Given the description of an element on the screen output the (x, y) to click on. 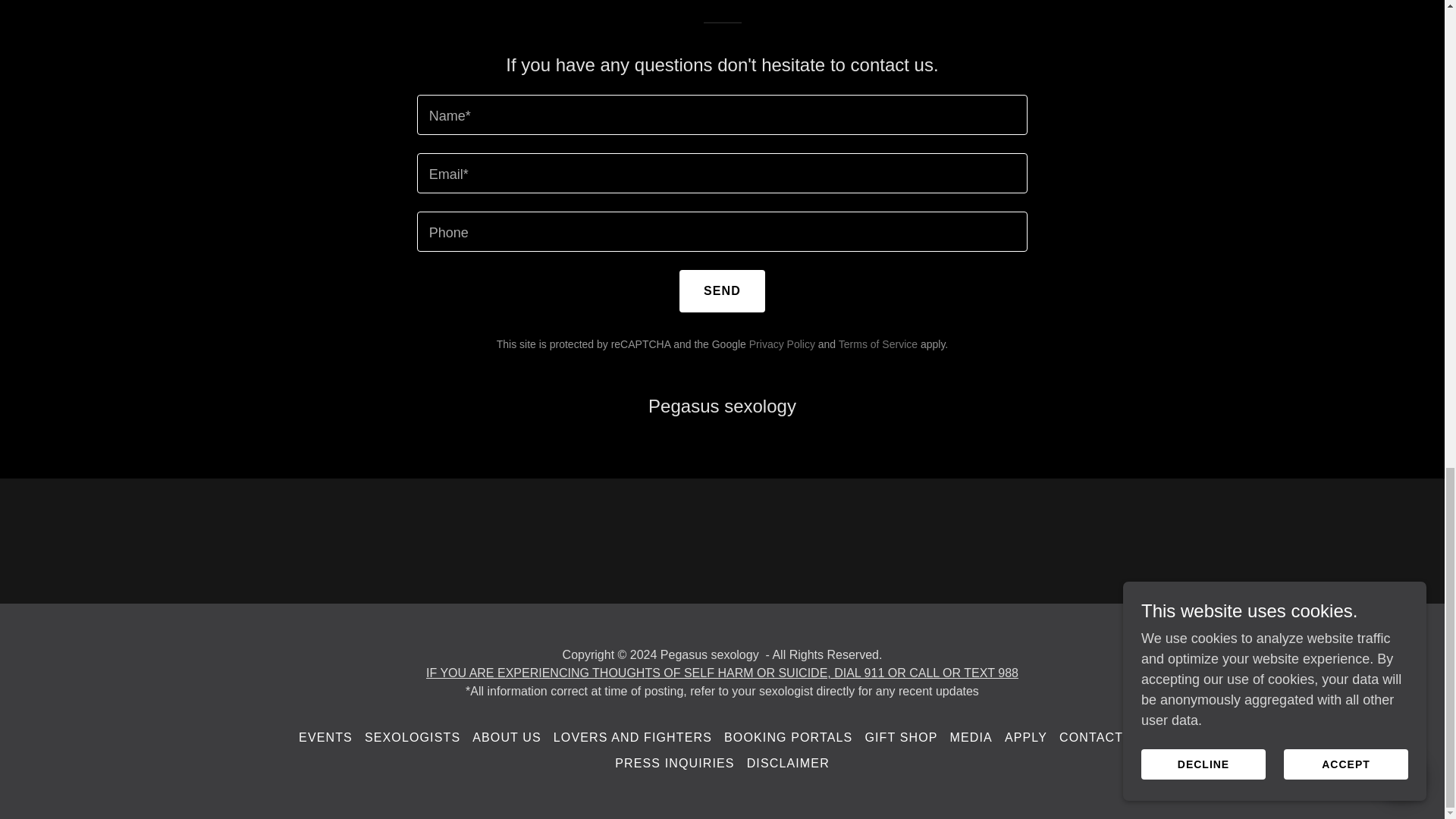
SEND (722, 291)
Privacy Policy (782, 344)
